Given the description of an element on the screen output the (x, y) to click on. 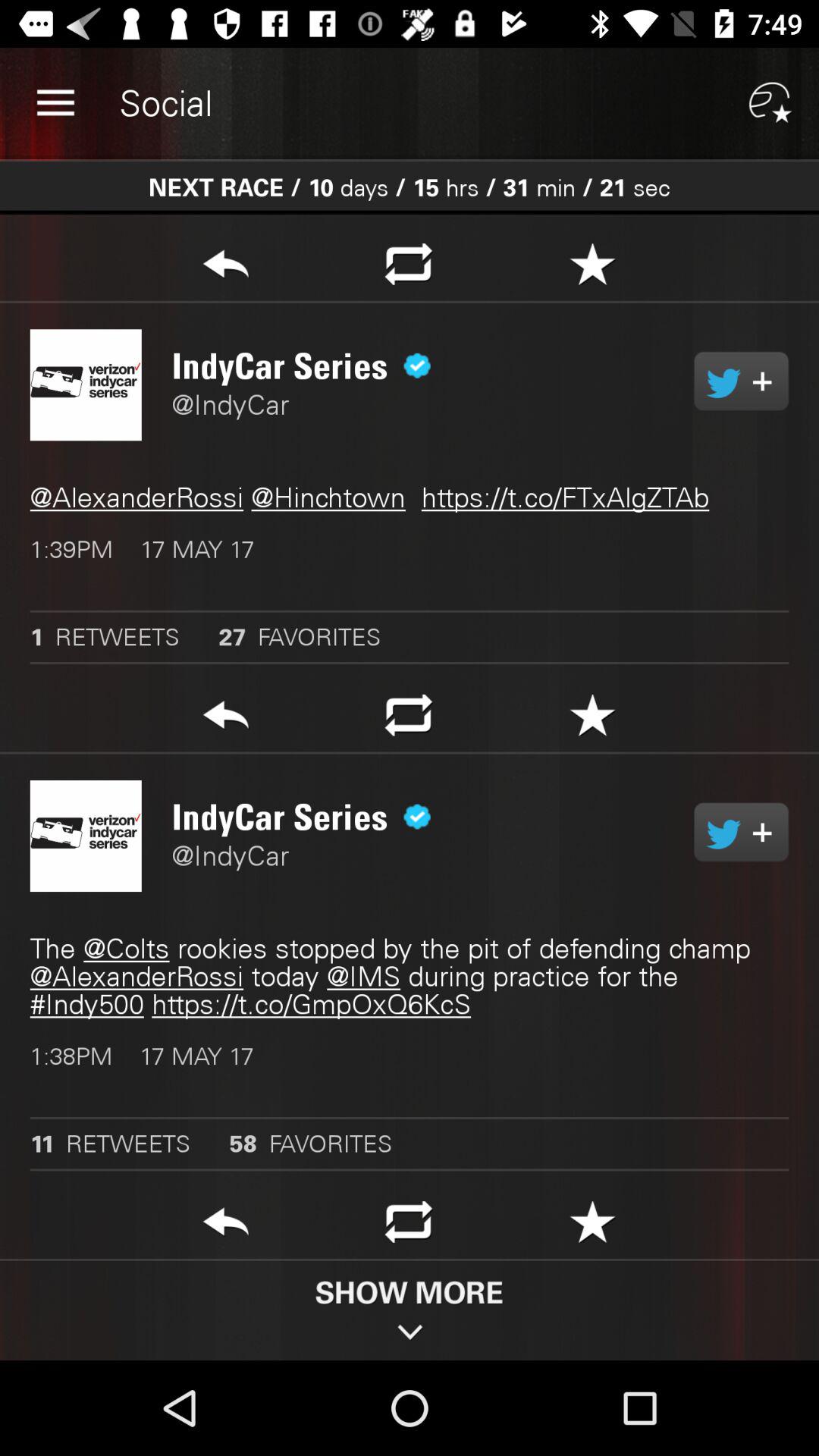
reply (225, 1226)
